Given the description of an element on the screen output the (x, y) to click on. 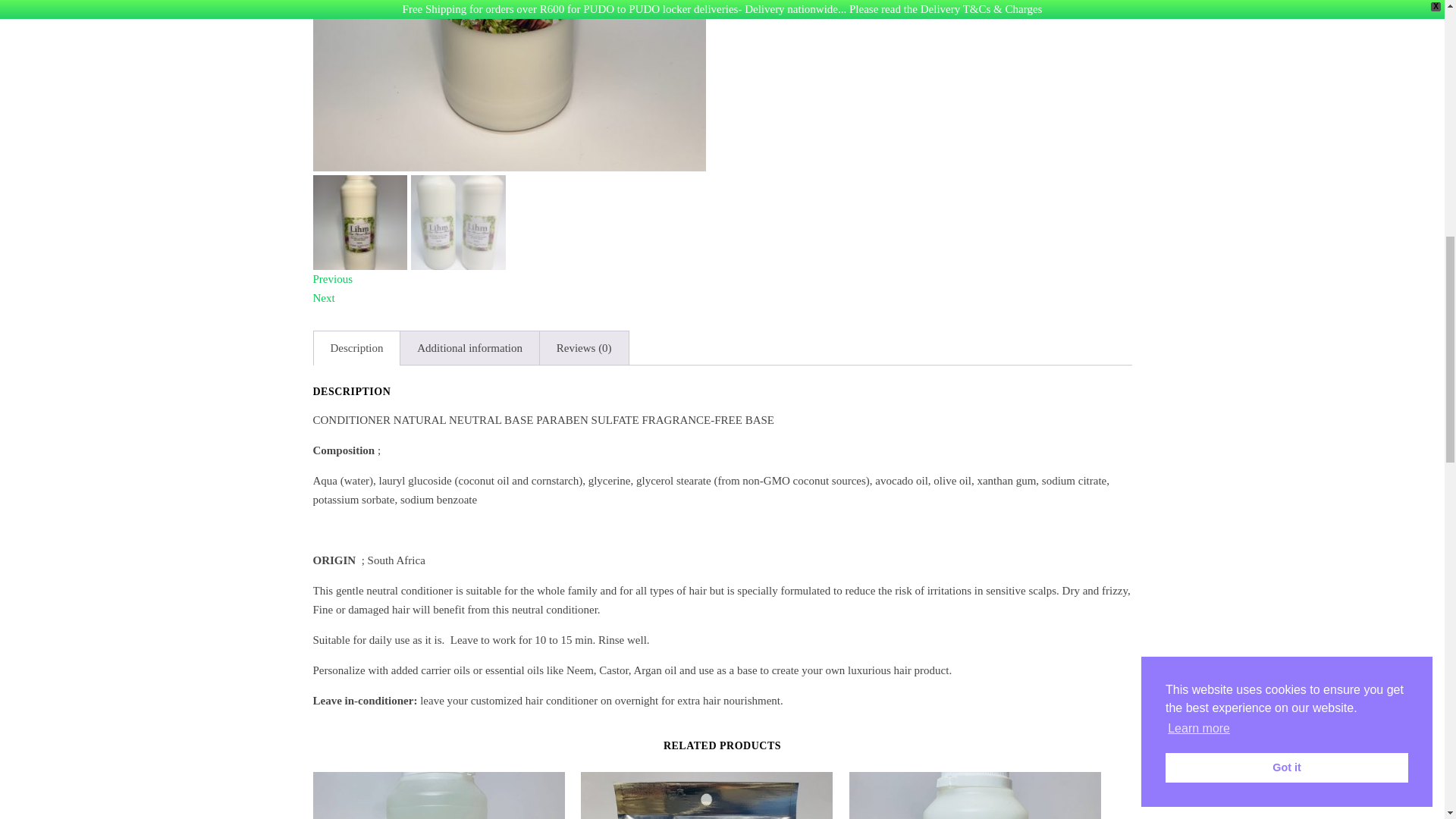
LIHM NEUTRAL CONDITIONER (508, 85)
